Given the description of an element on the screen output the (x, y) to click on. 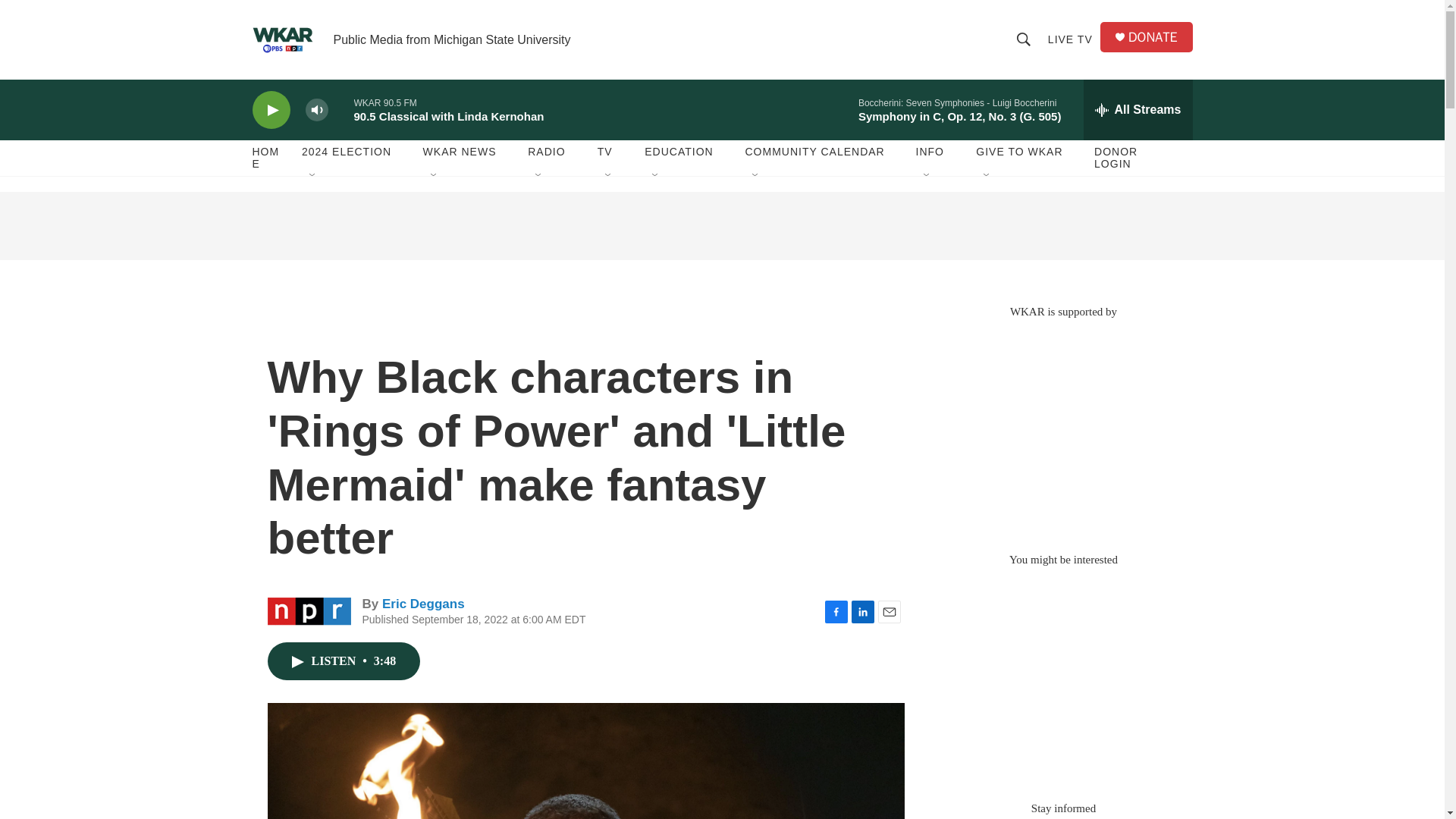
3rd party ad content (1062, 428)
3rd party ad content (1062, 677)
3rd party ad content (721, 225)
